Given the description of an element on the screen output the (x, y) to click on. 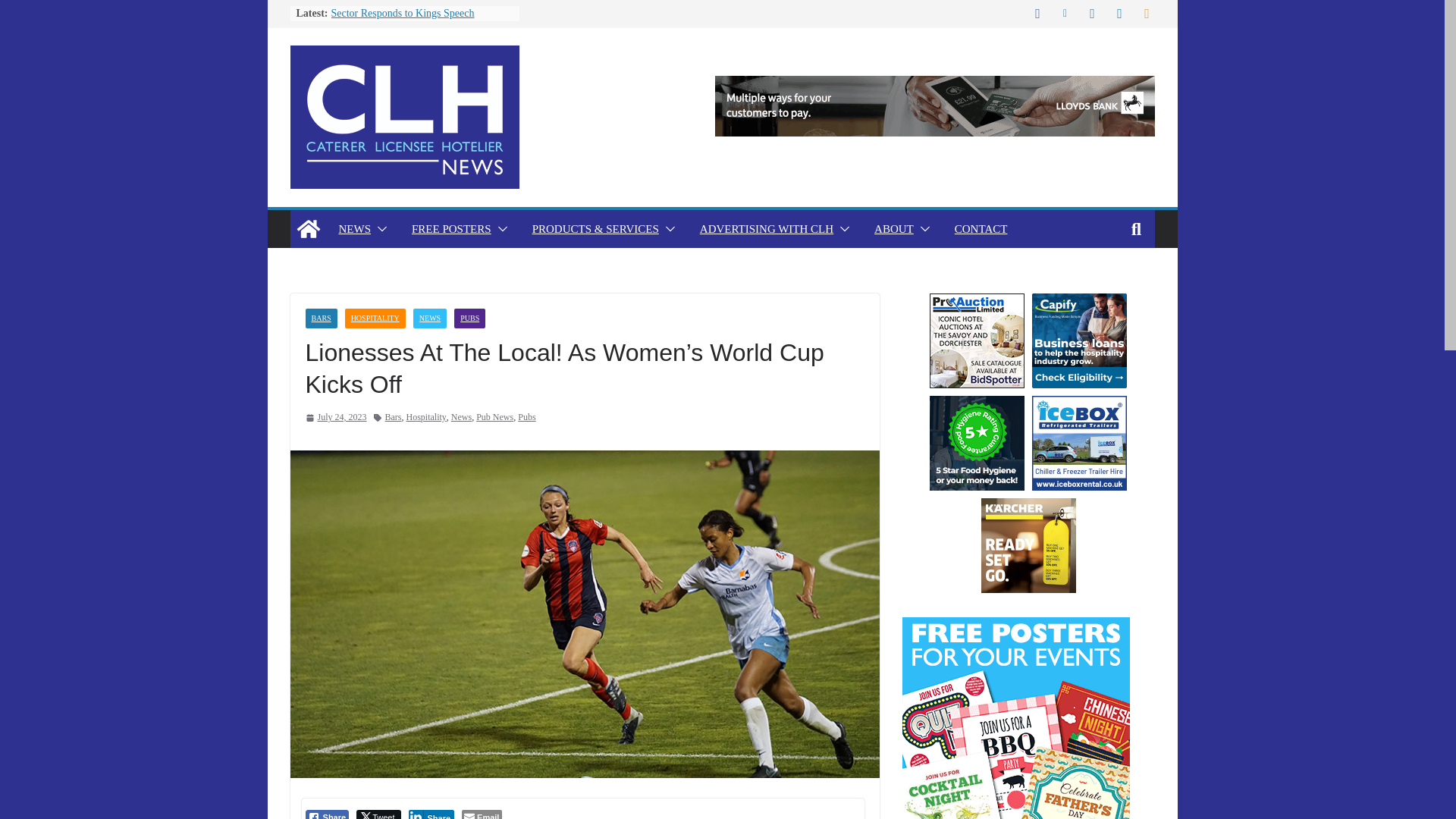
Sector Responds to Kings Speech (402, 12)
NEWS (354, 228)
FREE POSTERS (452, 228)
Sector Responds to Kings Speech (402, 12)
11:37 am (335, 417)
CLH News: Caterer, Licensee and Hotelier News (307, 228)
